Given the description of an element on the screen output the (x, y) to click on. 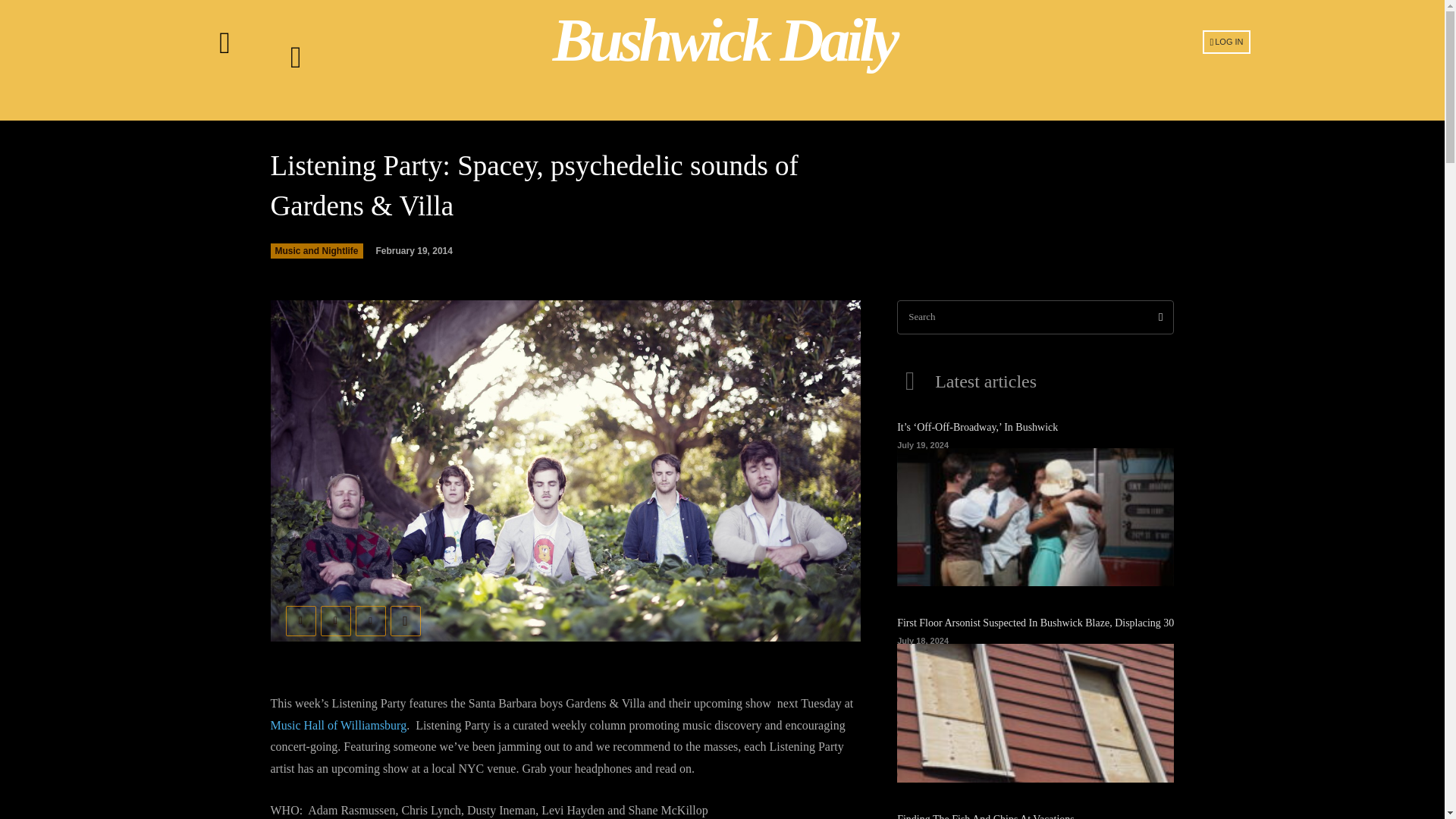
Pinterest (370, 621)
Music and Nightlife (315, 250)
WhatsApp (405, 621)
Finding The Fish And Chips At Vacations (985, 816)
Music Hall of Williamsburg (337, 725)
LOG IN (1226, 41)
Facebook (300, 621)
Twitter (335, 621)
Bushwick Daily (724, 40)
